Given the description of an element on the screen output the (x, y) to click on. 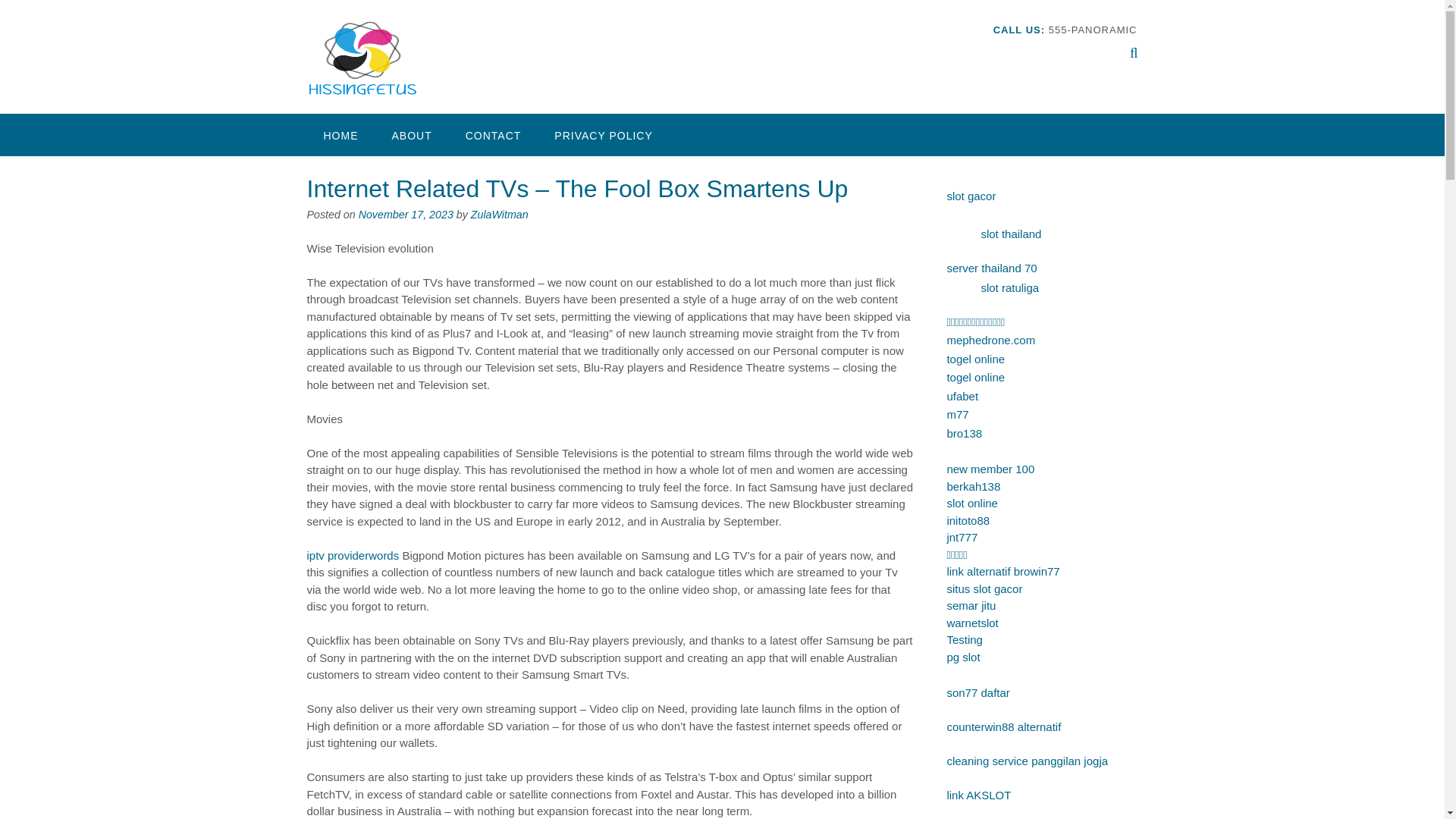
togel online (975, 358)
bro138 (963, 431)
initoto88 (968, 520)
link alternatif browin77 (1002, 571)
Testing (964, 639)
ZulaWitman (499, 214)
m77 (957, 413)
server thailand 70 (991, 267)
November 17, 2023 (405, 214)
semar jitu (970, 604)
warnetslot (971, 621)
pg slot (962, 656)
slot ratuliga (1009, 286)
situs slot gacor (984, 588)
